Given the description of an element on the screen output the (x, y) to click on. 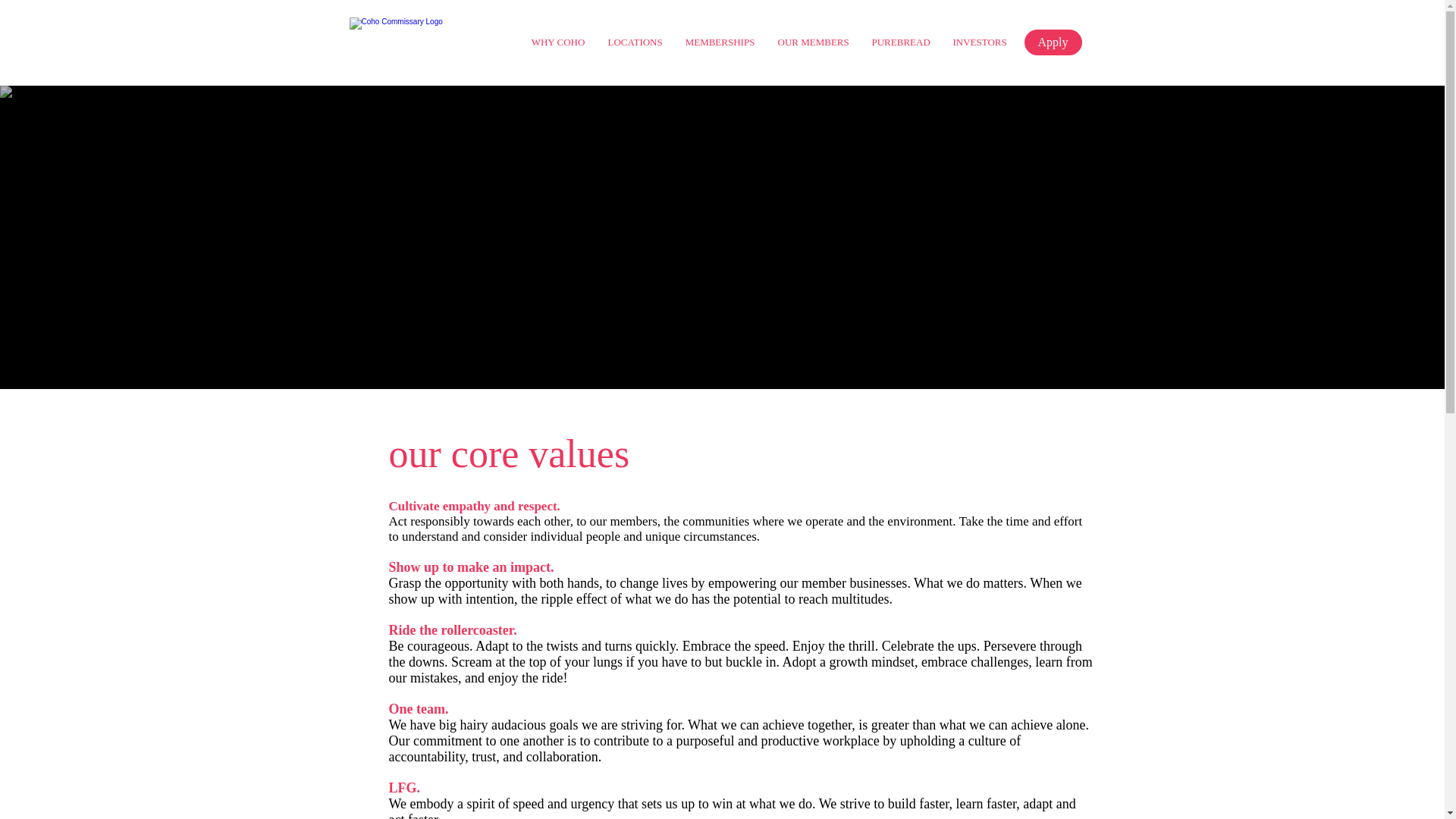
Apply (1052, 42)
INVESTORS (979, 42)
LOCATIONS (633, 42)
PUREBREAD (900, 42)
MEMBERSHIPS (718, 42)
WHY COHO (557, 42)
OUR MEMBERS (812, 42)
